Given the description of an element on the screen output the (x, y) to click on. 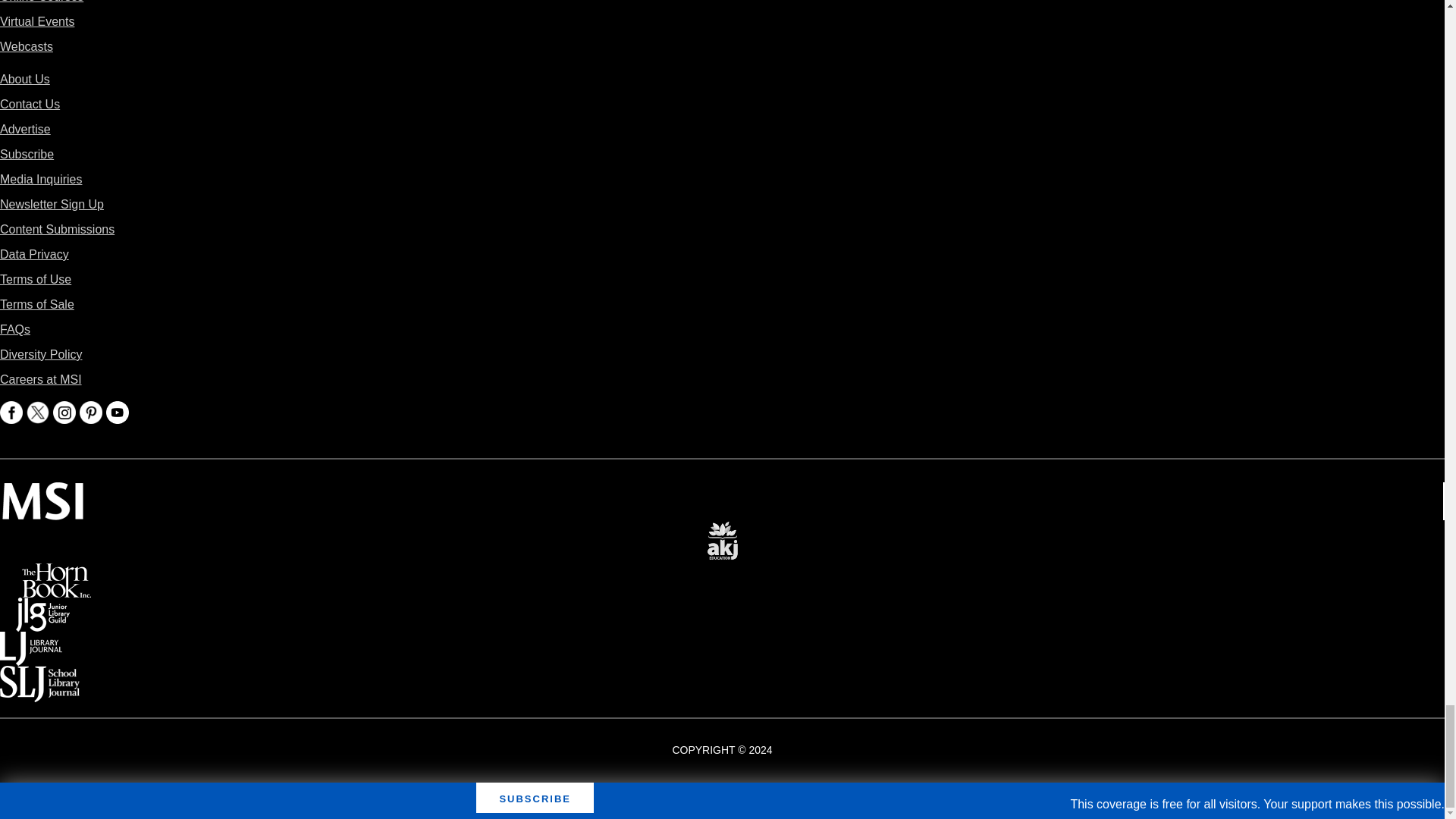
The Horn Book (56, 573)
School Library Journal (40, 676)
Junior Library Guild (42, 607)
Media Source Incorporated (42, 492)
AKJ (722, 530)
